Given the description of an element on the screen output the (x, y) to click on. 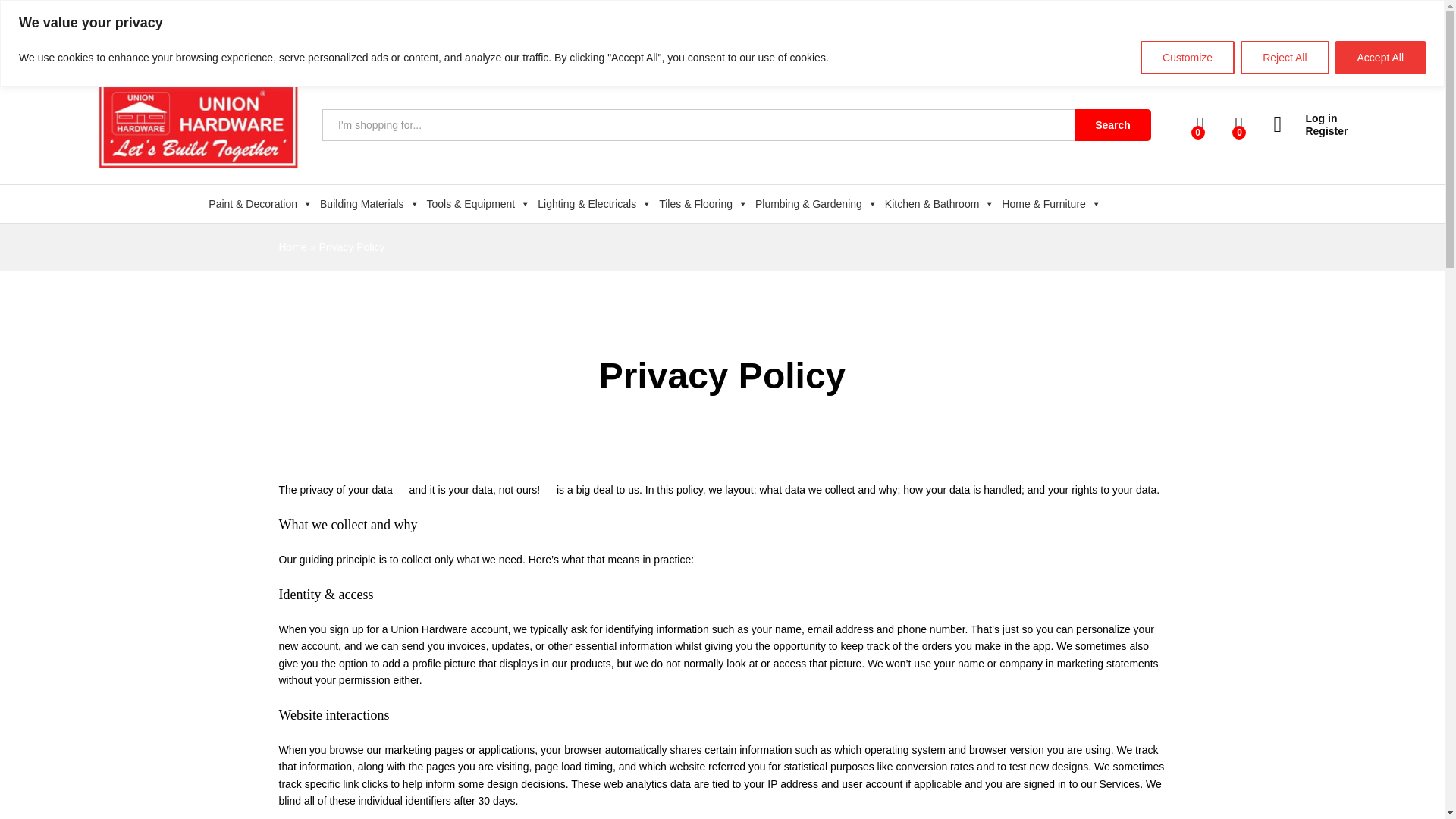
Accept All (1380, 57)
Reject All (1283, 57)
Search (1113, 124)
Log in (1310, 118)
Register (1310, 131)
Customize (1187, 57)
Change Branch (1300, 26)
